Given the description of an element on the screen output the (x, y) to click on. 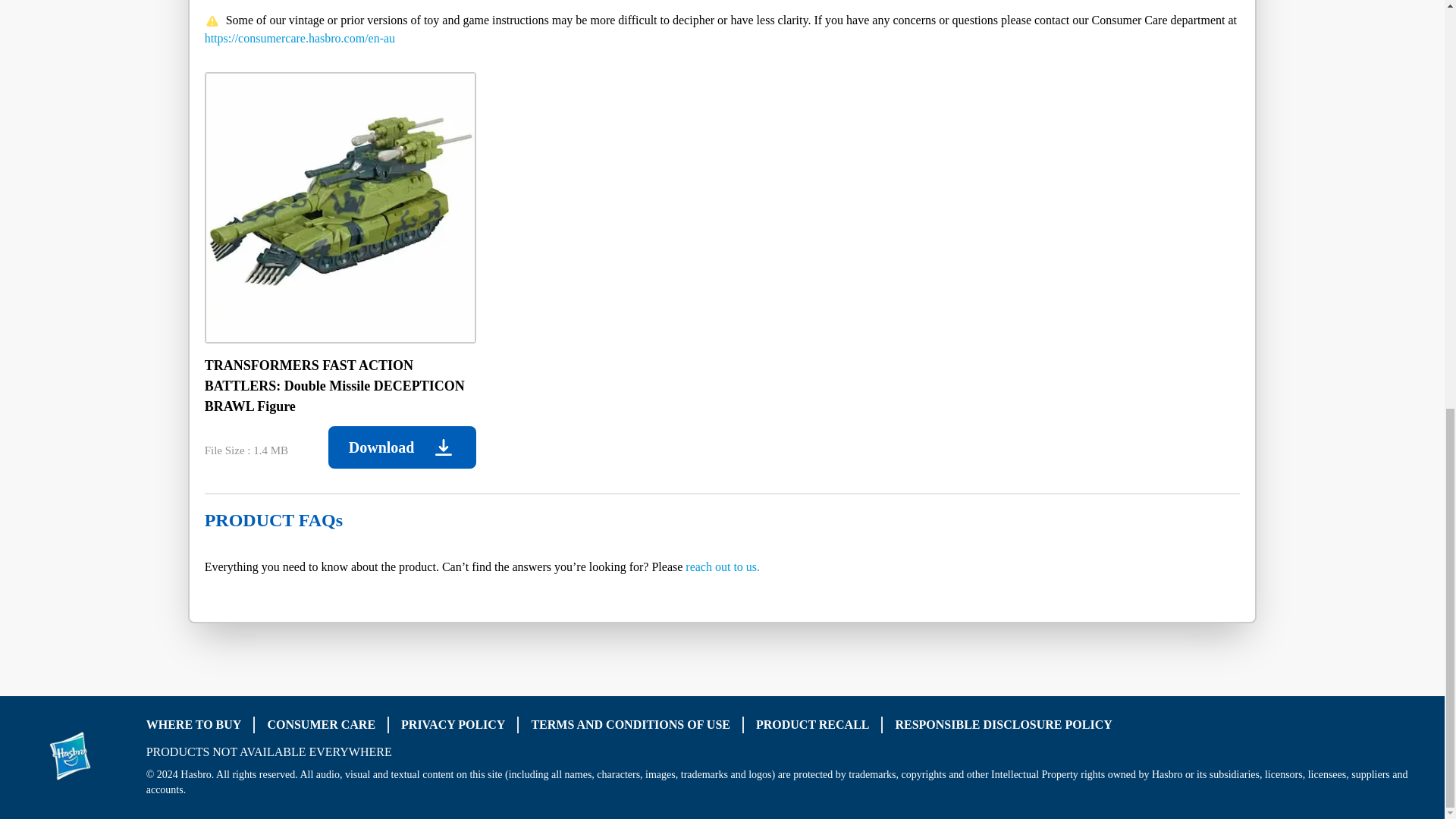
TERMS AND CONDITIONS OF USE (630, 724)
WHERE TO BUY (194, 724)
Download (402, 446)
reach out to us. (722, 566)
PRODUCT RECALL (812, 724)
CONSUMER CARE (320, 724)
PRIVACY POLICY (453, 724)
RESPONSIBLE DISCLOSURE POLICY (1003, 724)
